Given the description of an element on the screen output the (x, y) to click on. 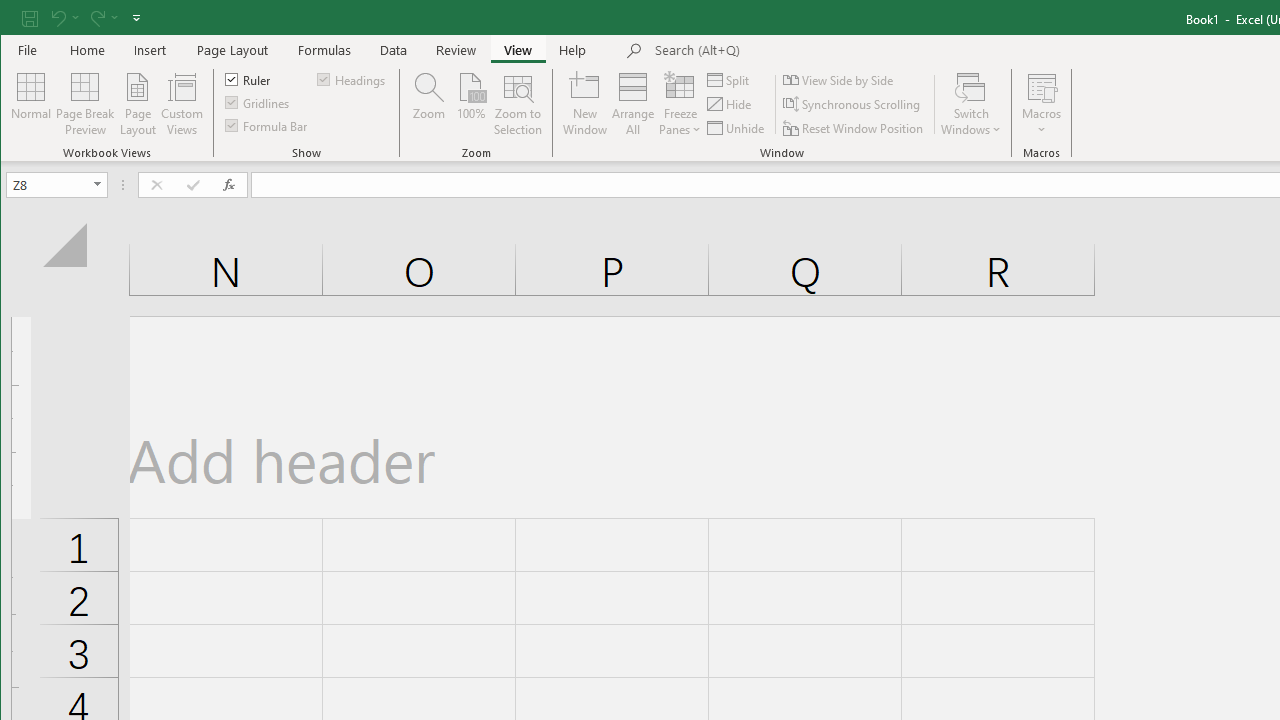
Page Layout (231, 50)
Page Layout (137, 104)
Formula Bar (267, 124)
Synchronous Scrolling (852, 103)
Undo (57, 17)
Split (730, 80)
Save (29, 17)
Name Box (48, 184)
Undo (63, 17)
View Side by Side (839, 80)
System (18, 18)
Open (98, 184)
Customize Quick Access Toolbar (136, 17)
Microsoft search (794, 51)
File Tab (28, 49)
